Given the description of an element on the screen output the (x, y) to click on. 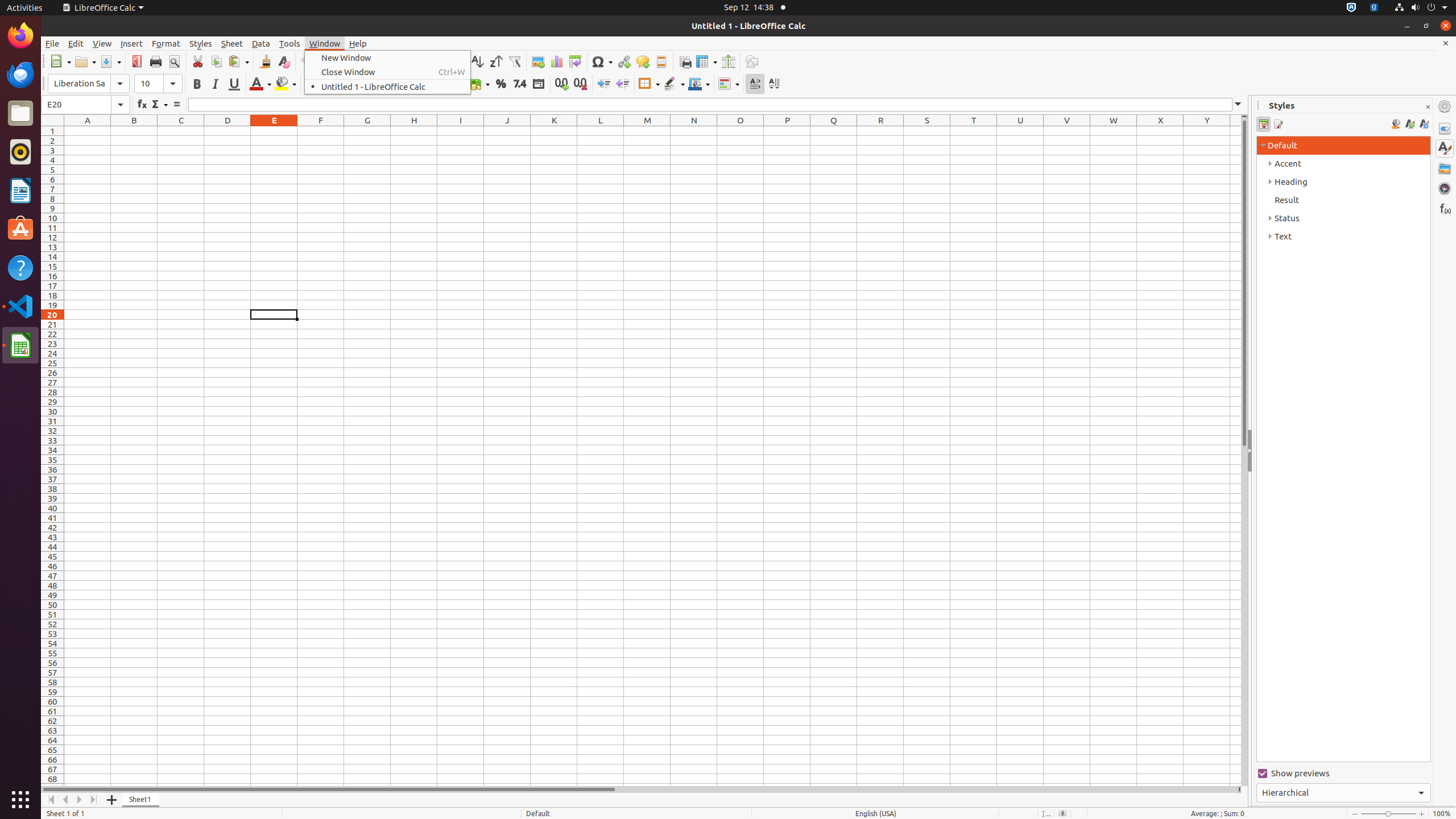
Functions Element type: radio-button (1444, 208)
A1 Element type: table-cell (87, 130)
Decrease Element type: push-button (622, 83)
Y1 Element type: table-cell (1206, 130)
Comment Element type: push-button (642, 61)
